Given the description of an element on the screen output the (x, y) to click on. 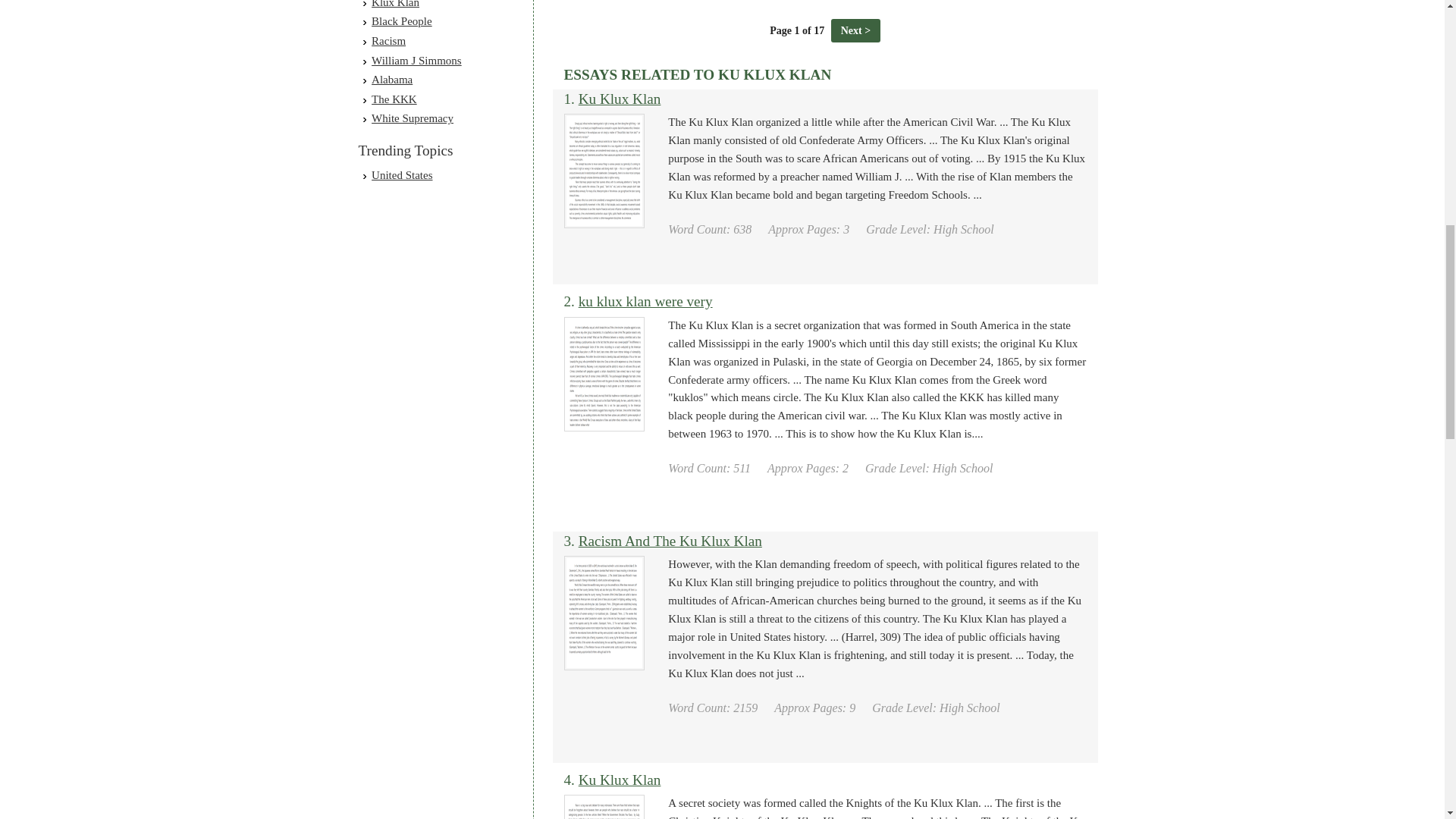
William J Simmons (416, 60)
White Supremacy (411, 118)
The KKK (393, 99)
Racism (388, 40)
United States (401, 174)
Klux Klan (395, 4)
Alabama (391, 79)
Ku Klux Klan (619, 98)
Black People (401, 21)
